Given the description of an element on the screen output the (x, y) to click on. 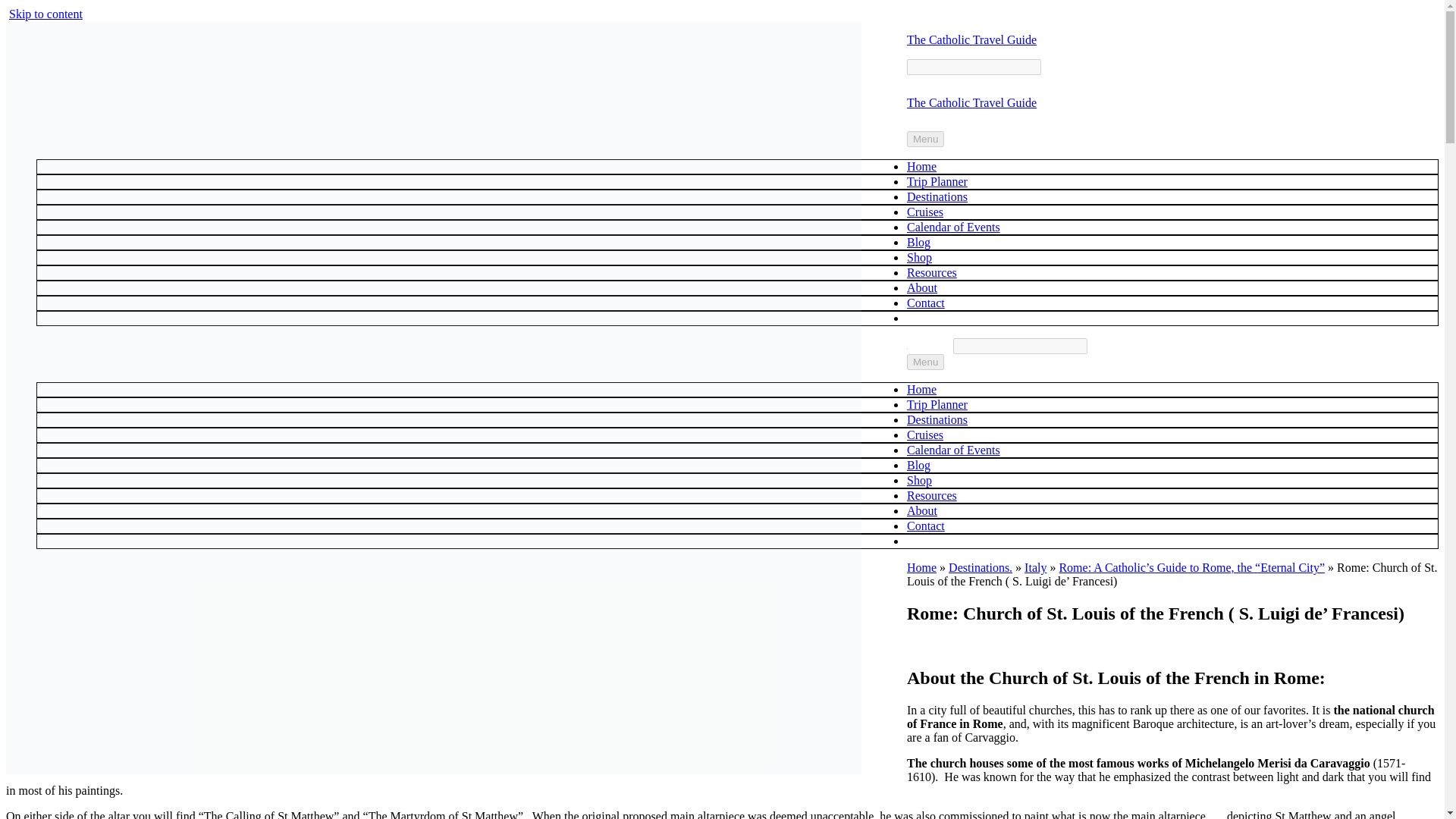
Search (1020, 345)
Shop (919, 480)
Blog (918, 464)
Trip Planner (937, 181)
Calendar of Events (953, 226)
Menu (925, 361)
Calendar of Events (953, 449)
Contact (925, 525)
Resources (931, 272)
Home (921, 389)
Home (921, 567)
Menu (925, 139)
Contact (925, 302)
Search (974, 66)
Skip to content (45, 13)
